Given the description of an element on the screen output the (x, y) to click on. 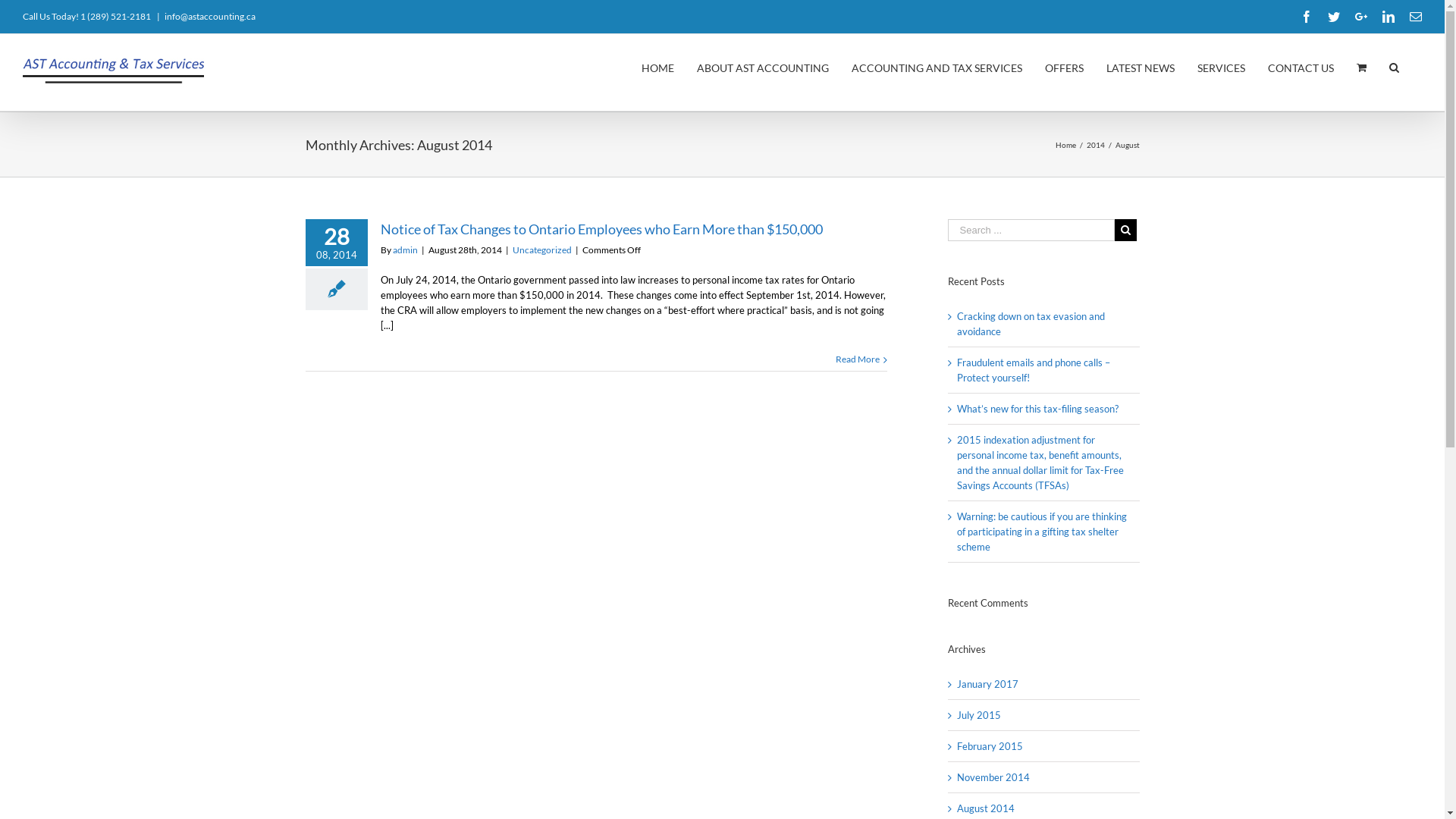
August 2014 Element type: text (985, 808)
LATEST NEWS Element type: text (1140, 66)
CONTACT US Element type: text (1300, 66)
July 2015 Element type: text (979, 715)
Read More Element type: text (857, 358)
Home Element type: text (1065, 143)
Uncategorized Element type: text (541, 249)
HOME Element type: text (657, 66)
2014 Element type: text (1094, 143)
ABOUT AST ACCOUNTING Element type: text (762, 66)
January 2017 Element type: text (987, 683)
OFFERS Element type: text (1063, 66)
info@astaccounting.ca Element type: text (209, 15)
February 2015 Element type: text (989, 746)
November 2014 Element type: text (993, 777)
Cracking down on tax evasion and avoidance Element type: text (1030, 323)
SERVICES Element type: text (1221, 66)
admin Element type: text (404, 249)
ACCOUNTING AND TAX SERVICES Element type: text (936, 66)
